Given the description of an element on the screen output the (x, y) to click on. 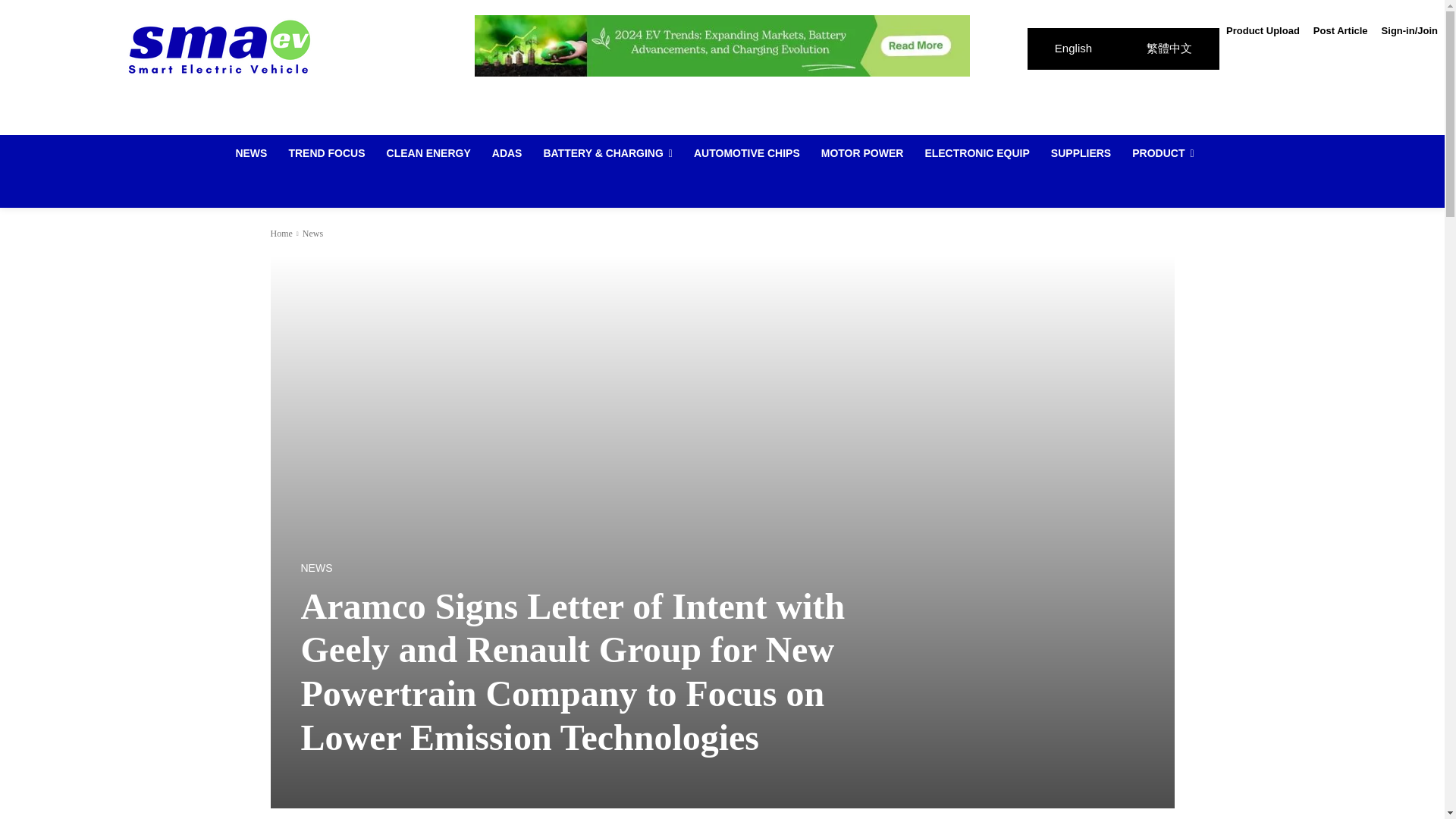
Product Upload (1263, 30)
View all posts in News (312, 233)
English (1073, 48)
Post Article (1340, 30)
NEWS (251, 153)
English (1073, 48)
